Given the description of an element on the screen output the (x, y) to click on. 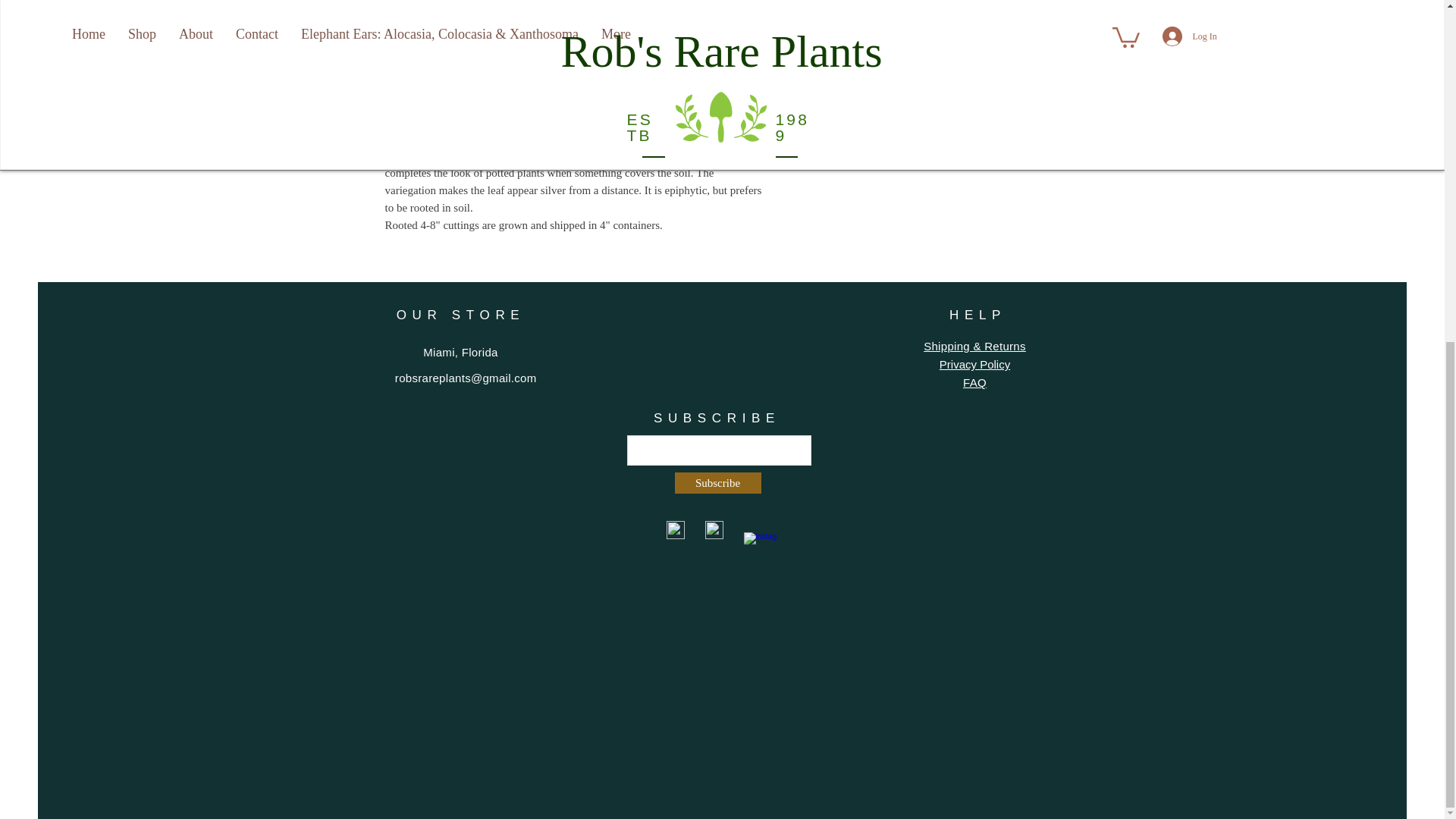
FAQ (974, 382)
Subscribe (718, 482)
Privacy Policy (974, 364)
